Given the description of an element on the screen output the (x, y) to click on. 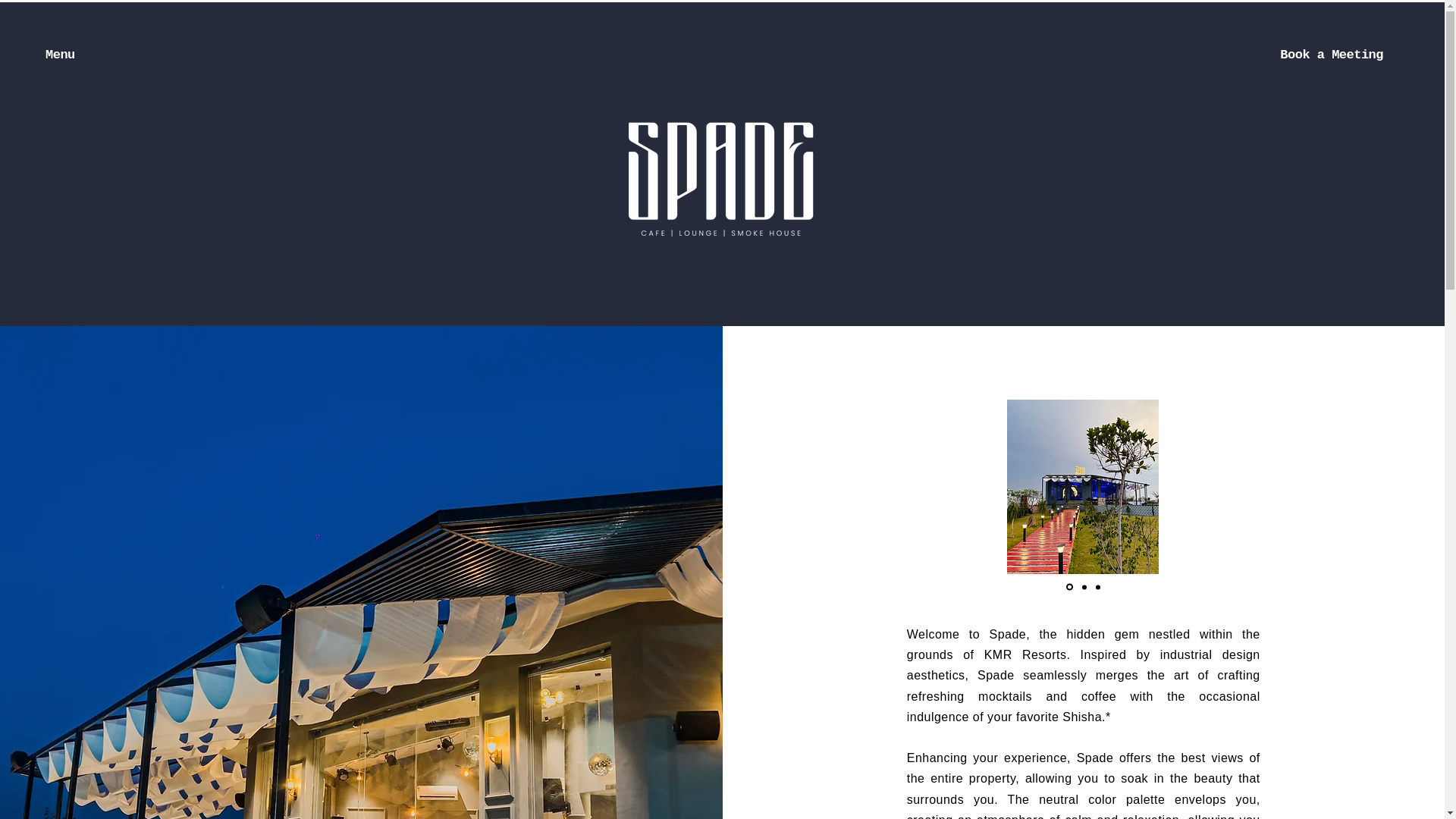
Menu (60, 54)
Book a Meeting (1331, 54)
